Given the description of an element on the screen output the (x, y) to click on. 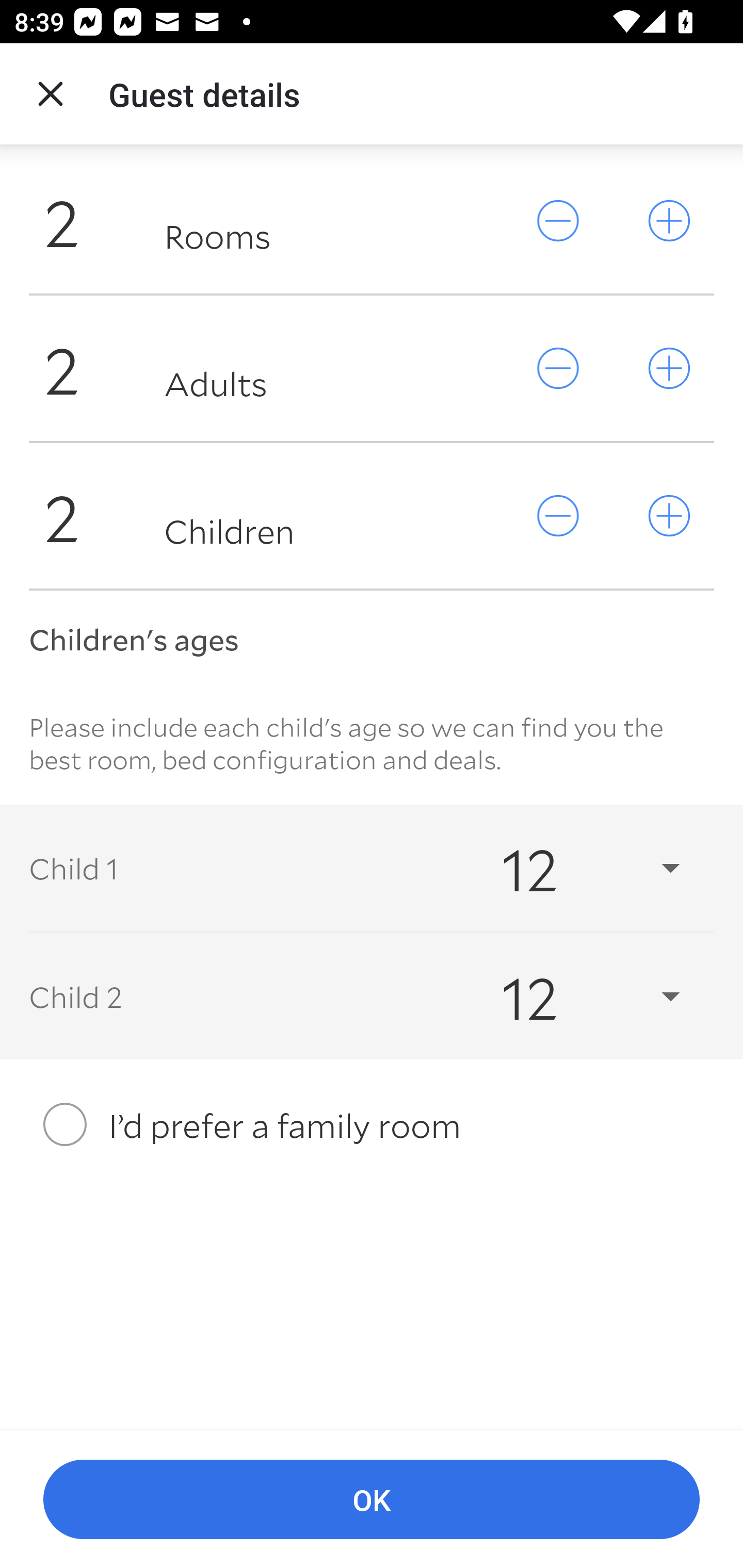
12 (573, 867)
12 (573, 996)
I’d prefer a family room (371, 1124)
OK (371, 1499)
